Given the description of an element on the screen output the (x, y) to click on. 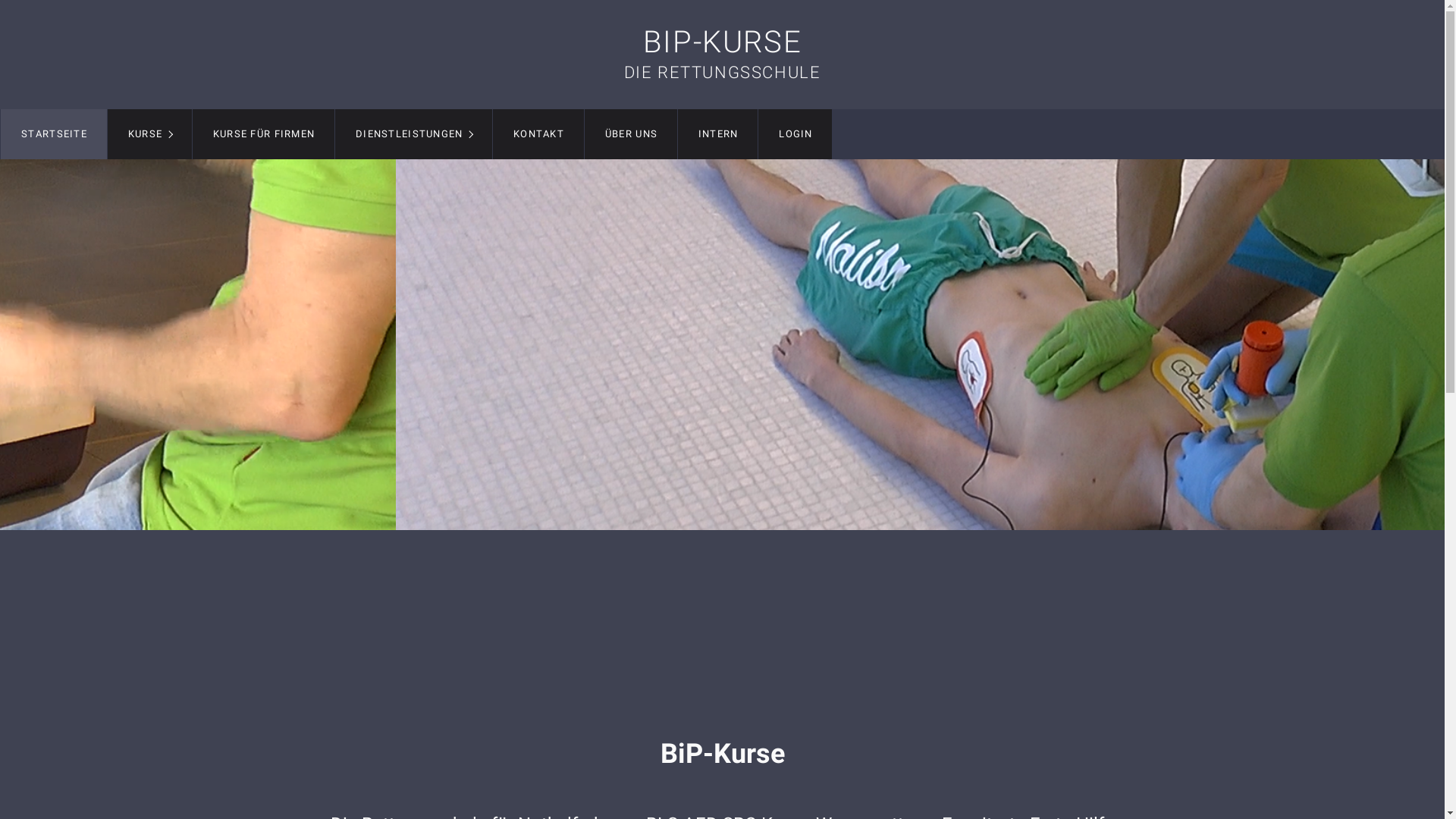
LOGIN Element type: text (794, 134)
DIENSTLEISTUNGEN Element type: text (413, 134)
INTERN Element type: text (717, 134)
KURSE Element type: text (149, 134)
KONTAKT Element type: text (537, 134)
BIP-KURSE Element type: text (722, 41)
STARTSEITE Element type: text (53, 134)
